Given the description of an element on the screen output the (x, y) to click on. 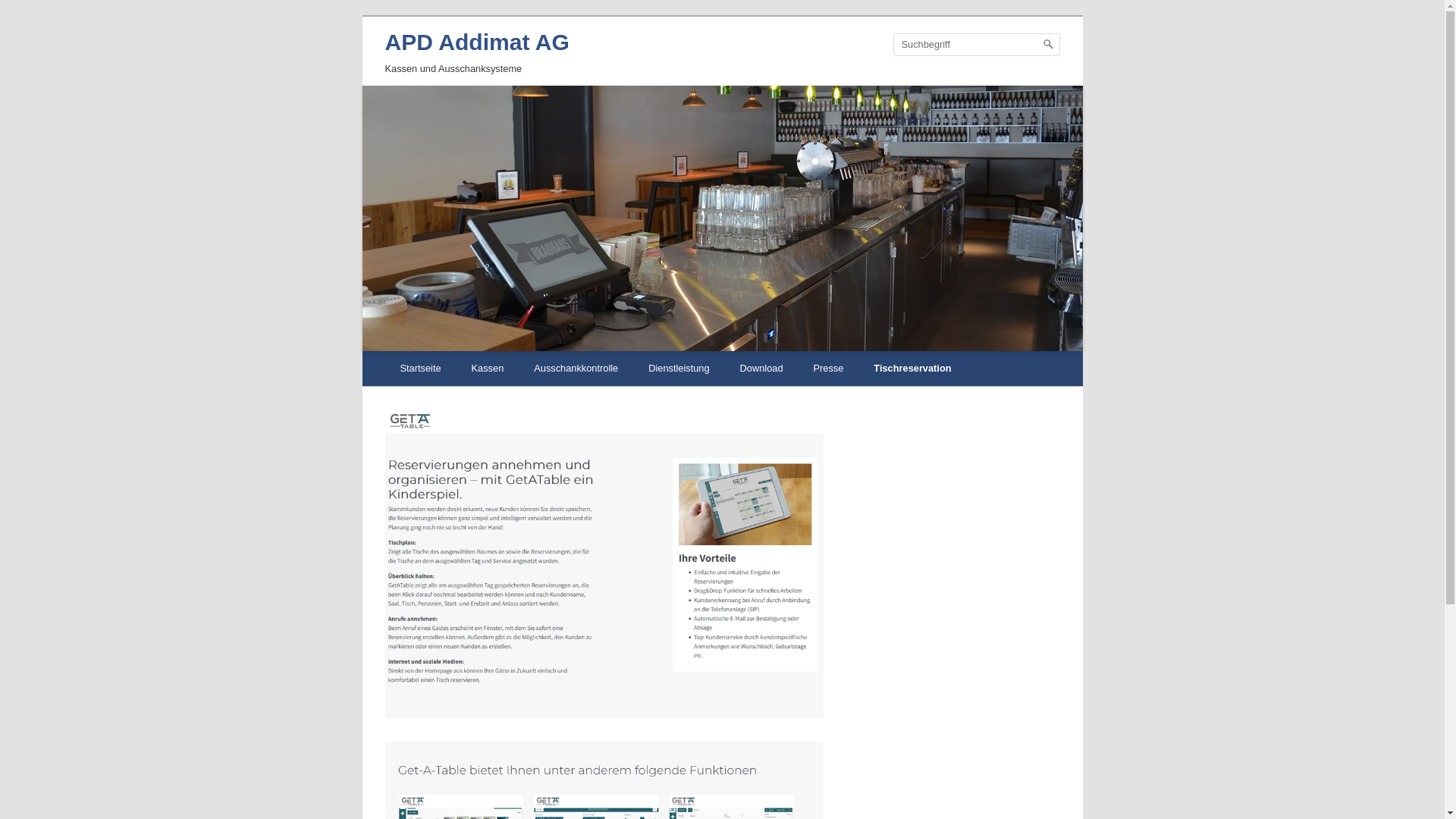
APD Addimat AG Element type: text (477, 41)
Download Element type: text (761, 368)
Startseite Element type: text (420, 368)
Kassen Element type: text (487, 368)
Dienstleistung Element type: text (678, 368)
Tischreservation Element type: text (912, 368)
Ausschankkontrolle Element type: text (575, 368)
Presse Element type: text (828, 368)
